Given the description of an element on the screen output the (x, y) to click on. 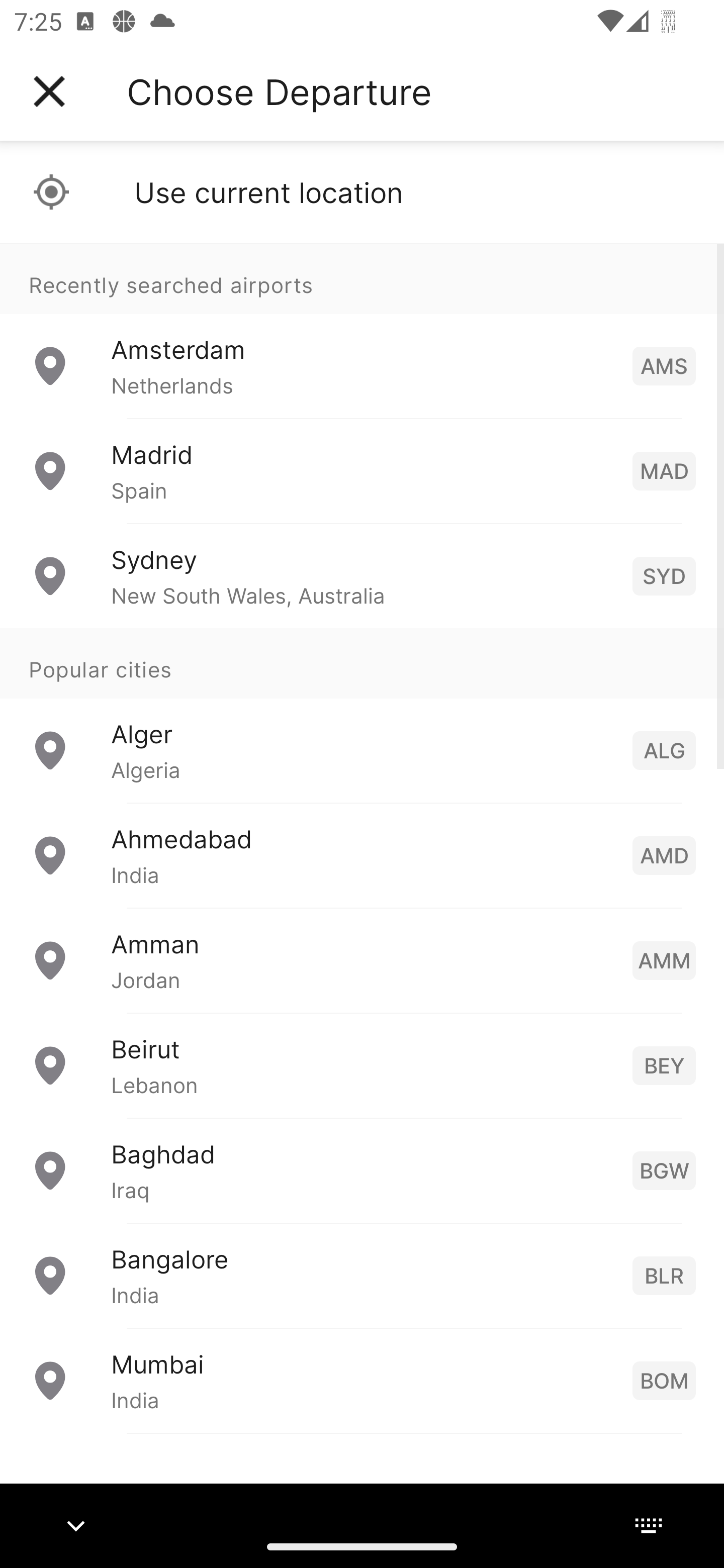
Choose Departure (279, 91)
Use current location (362, 192)
Recently searched airports (362, 278)
Madrid Spain MAD (362, 470)
Sydney New South Wales, Australia SYD (362, 575)
Popular cities Alger Algeria ALG (362, 715)
Popular cities (362, 663)
Ahmedabad India AMD (362, 854)
Amman Jordan AMM (362, 959)
Beirut Lebanon BEY (362, 1064)
Baghdad Iraq BGW (362, 1170)
Bangalore India BLR (362, 1275)
Mumbai India BOM (362, 1380)
